Given the description of an element on the screen output the (x, y) to click on. 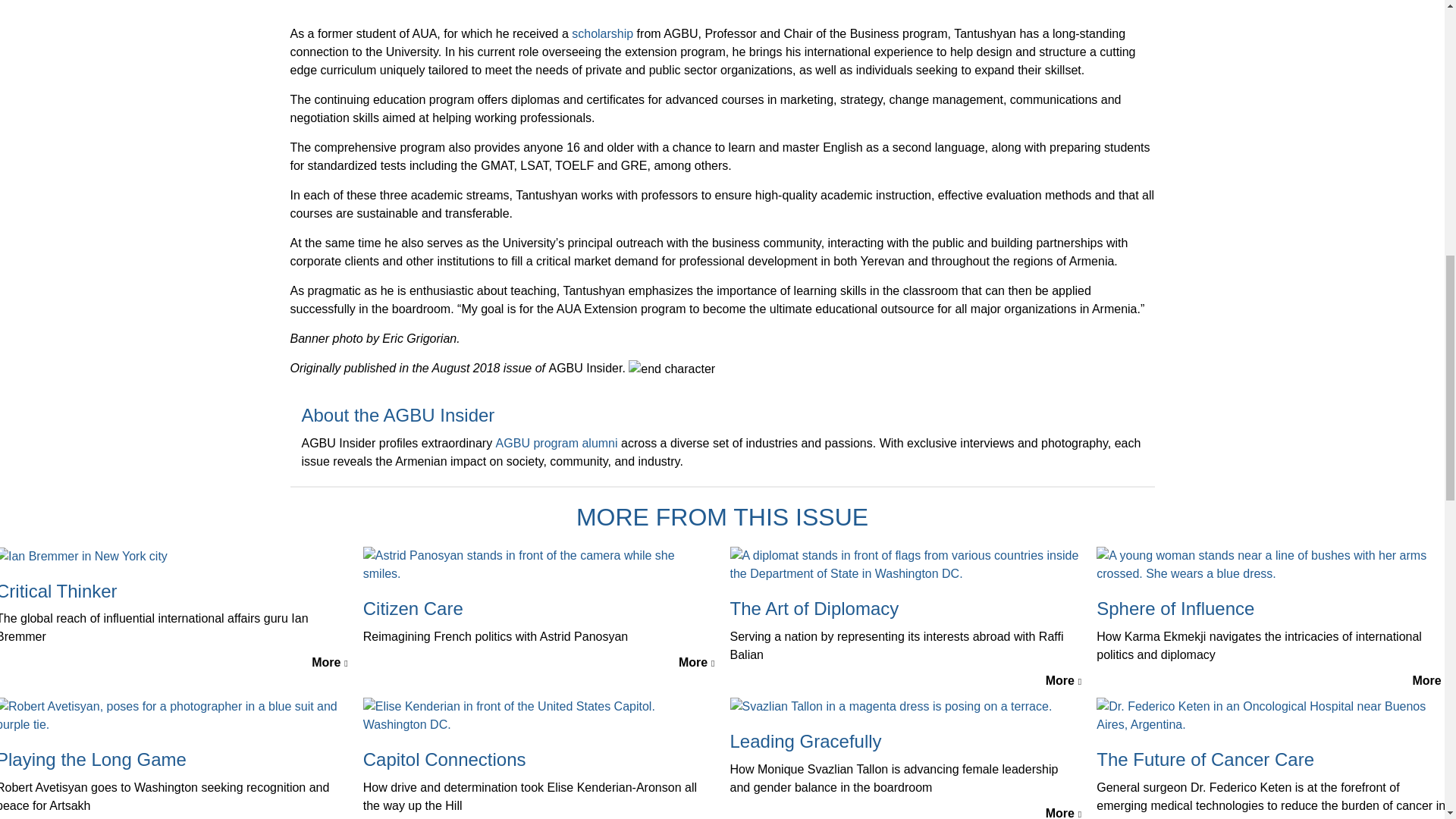
Capitol Connections (538, 760)
The Art of Diplomacy (905, 608)
Critical Thinker (83, 554)
Leading Gracefully  (905, 741)
The Art of Diplomacy (905, 563)
Sphere of Influence (1272, 608)
Playing the Long Game (173, 714)
Playing the Long Game (173, 760)
Leading Gracefully  (890, 706)
Critical Thinker (173, 591)
Sphere of Influence (1272, 563)
Citizen Care (538, 608)
Citizen Care (538, 563)
Capitol Connections (538, 714)
